Given the description of an element on the screen output the (x, y) to click on. 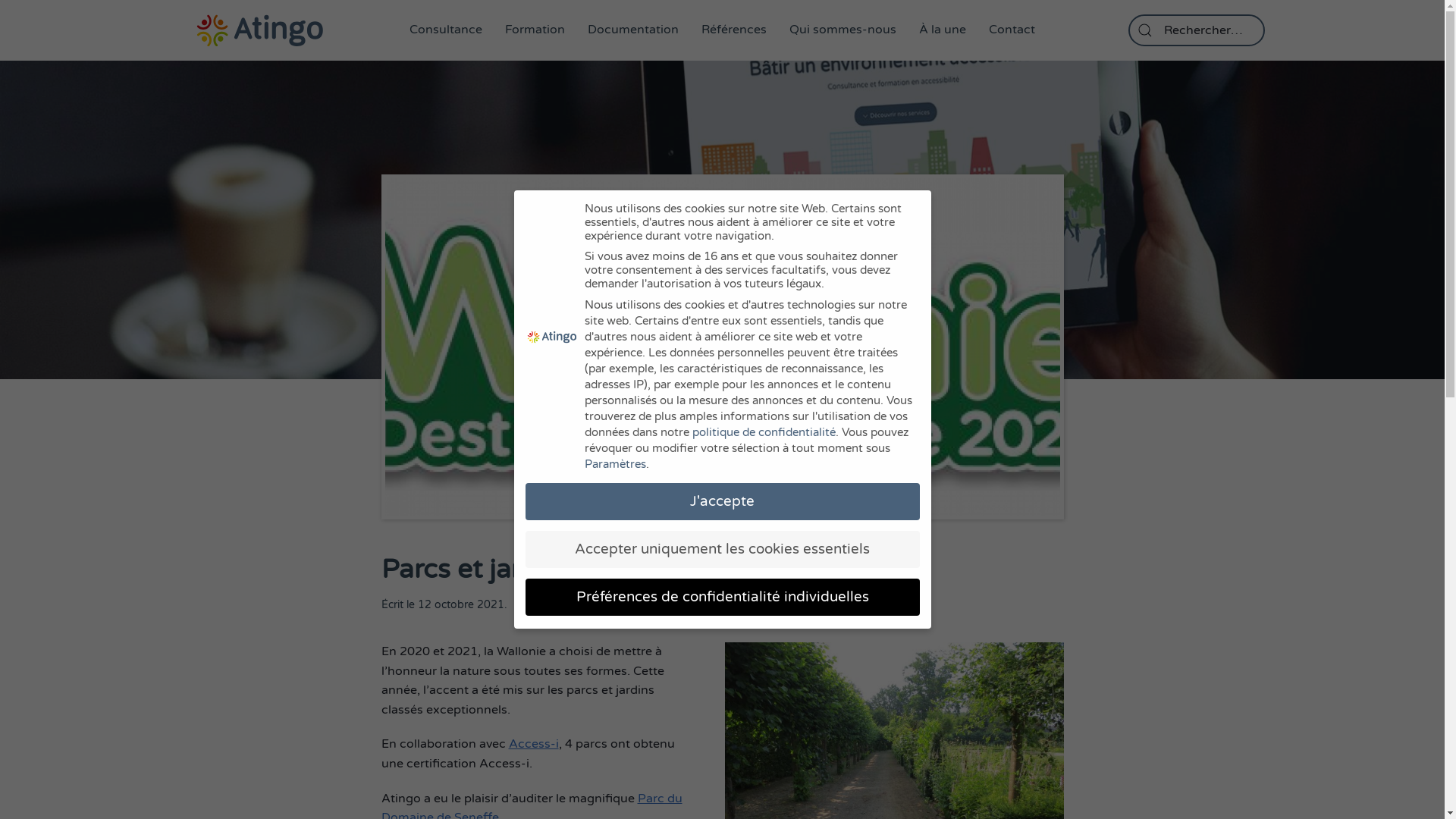
Contact Element type: text (1011, 30)
Consultance Element type: text (445, 30)
Rechercher dans le site internet Element type: hover (1196, 30)
Accepter uniquement les cookies essentiels Element type: text (721, 548)
Access-i Element type: text (533, 743)
Formation Element type: text (534, 30)
Qui sommes-nous Element type: text (842, 30)
Documentation Element type: text (633, 30)
J'accepte Element type: text (721, 501)
